Given the description of an element on the screen output the (x, y) to click on. 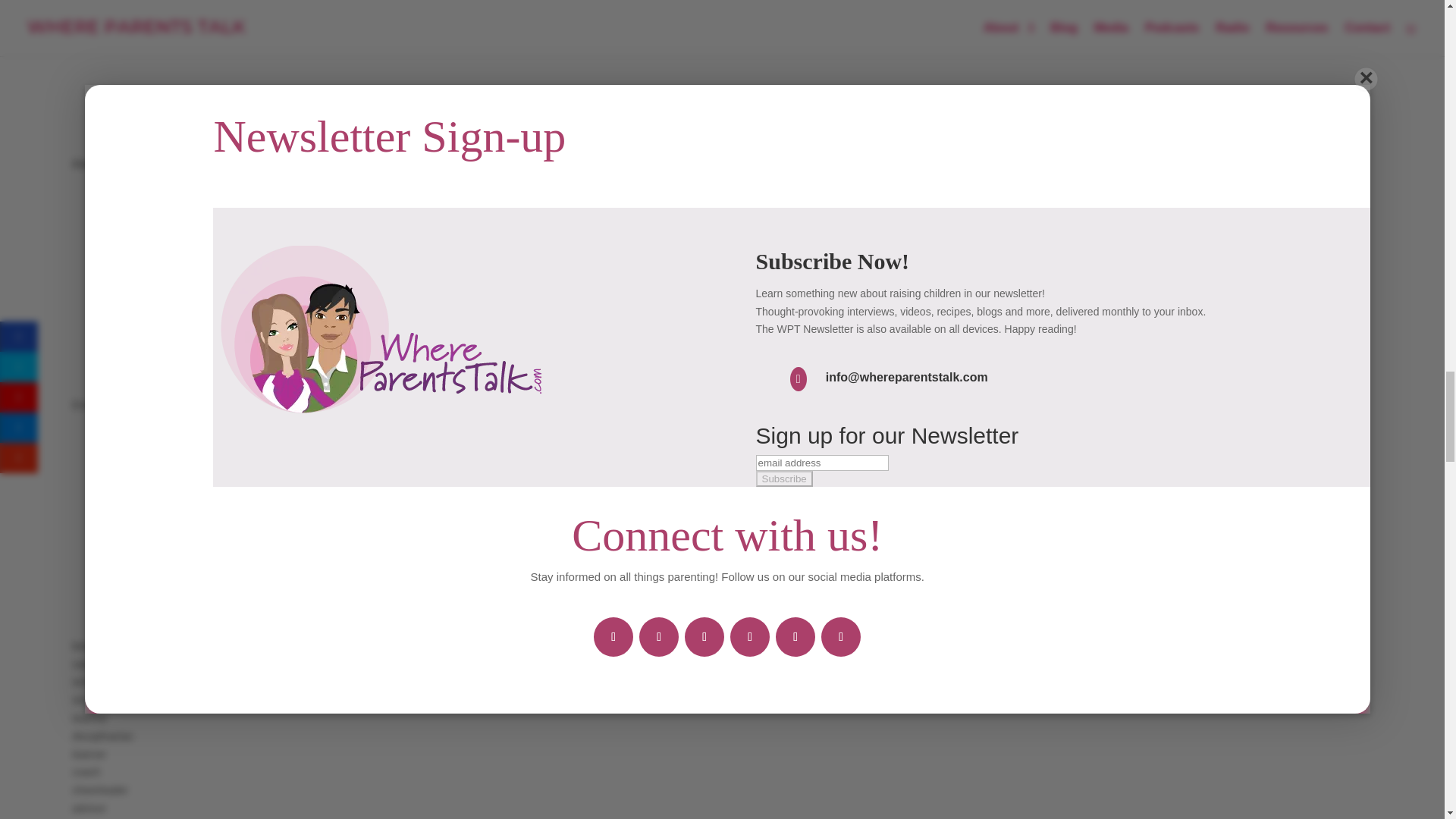
Maya Harris (189, 163)
